Given the description of an element on the screen output the (x, y) to click on. 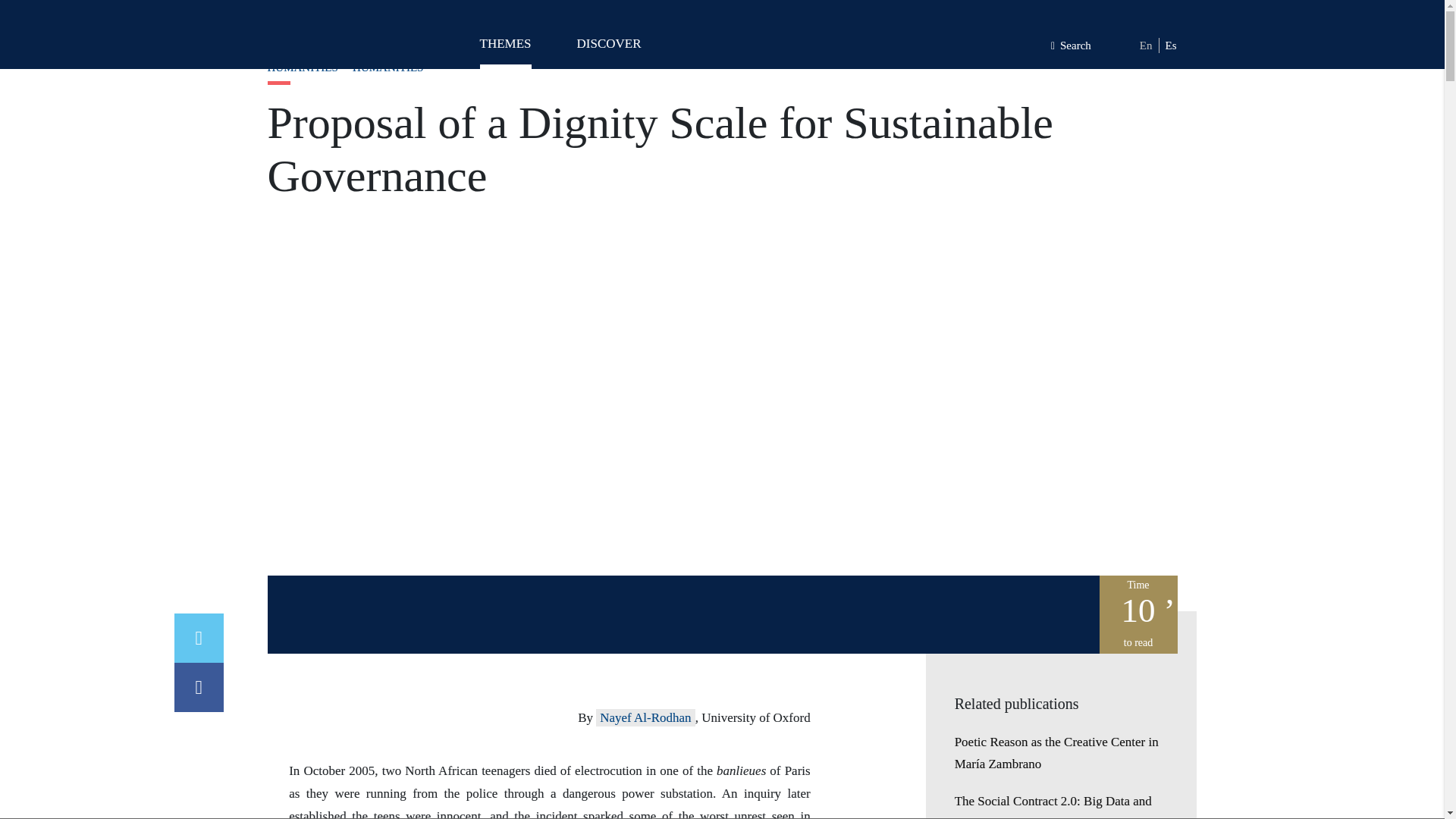
DESCUBRE (608, 50)
Start (276, 25)
OpenMind (330, 38)
OpenMind (330, 38)
TEMAS (505, 50)
